Given the description of an element on the screen output the (x, y) to click on. 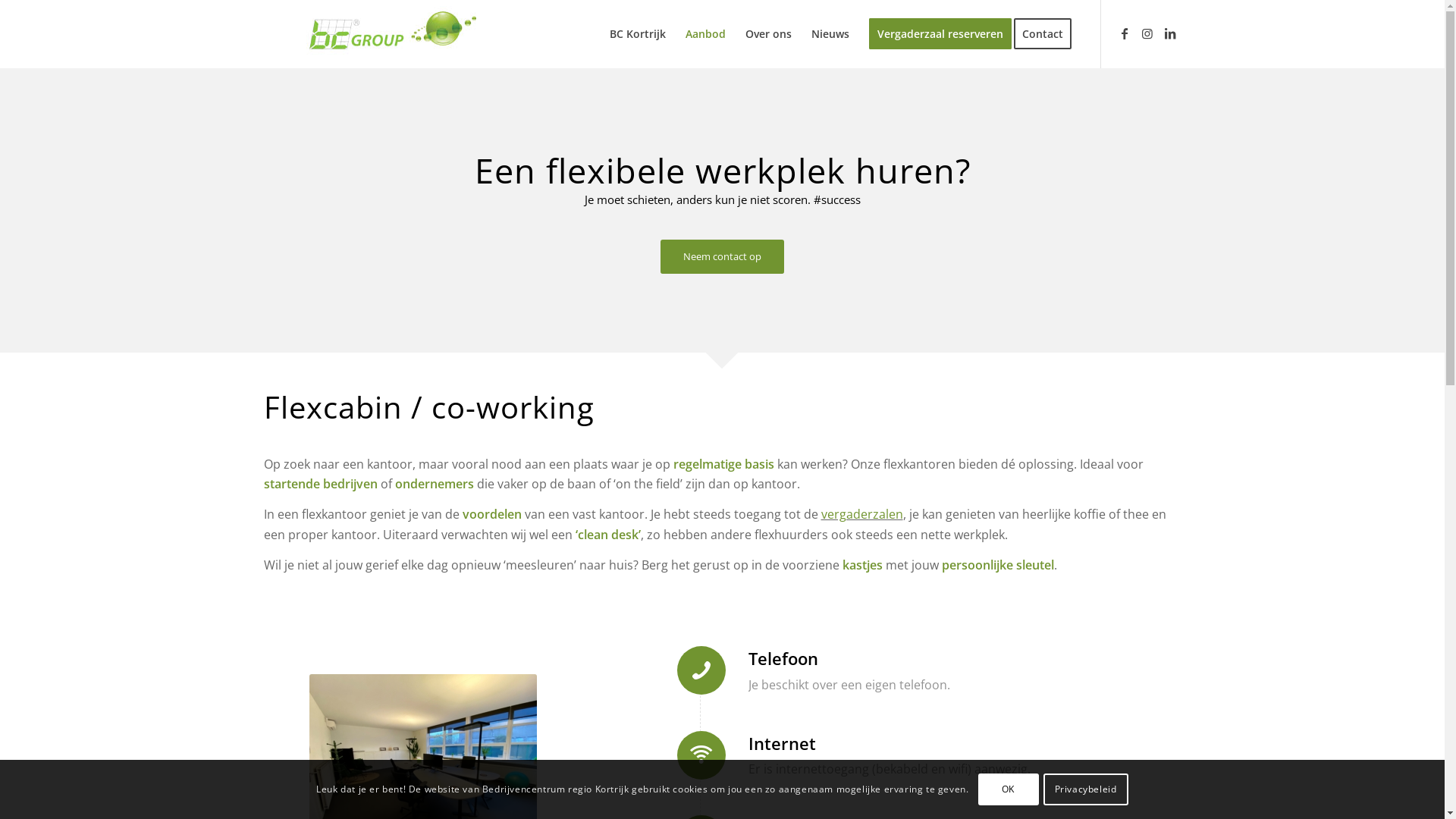
Instagram Element type: hover (1146, 32)
Over ons Element type: text (768, 34)
BC Kortrijk Element type: text (636, 34)
Privacybeleid Element type: text (1085, 789)
LinkedIn Element type: hover (1169, 32)
vergaderzalen Element type: text (861, 513)
OK Element type: text (1008, 789)
Nieuws Element type: text (829, 34)
Contact Element type: text (1046, 34)
Facebook Element type: hover (1124, 32)
Vergaderzaal reserveren Element type: text (939, 34)
Bedrijvencentrum Kortrijk Element type: hover (385, 30)
Aanbod Element type: text (704, 34)
Neem contact op Element type: text (722, 256)
